Given the description of an element on the screen output the (x, y) to click on. 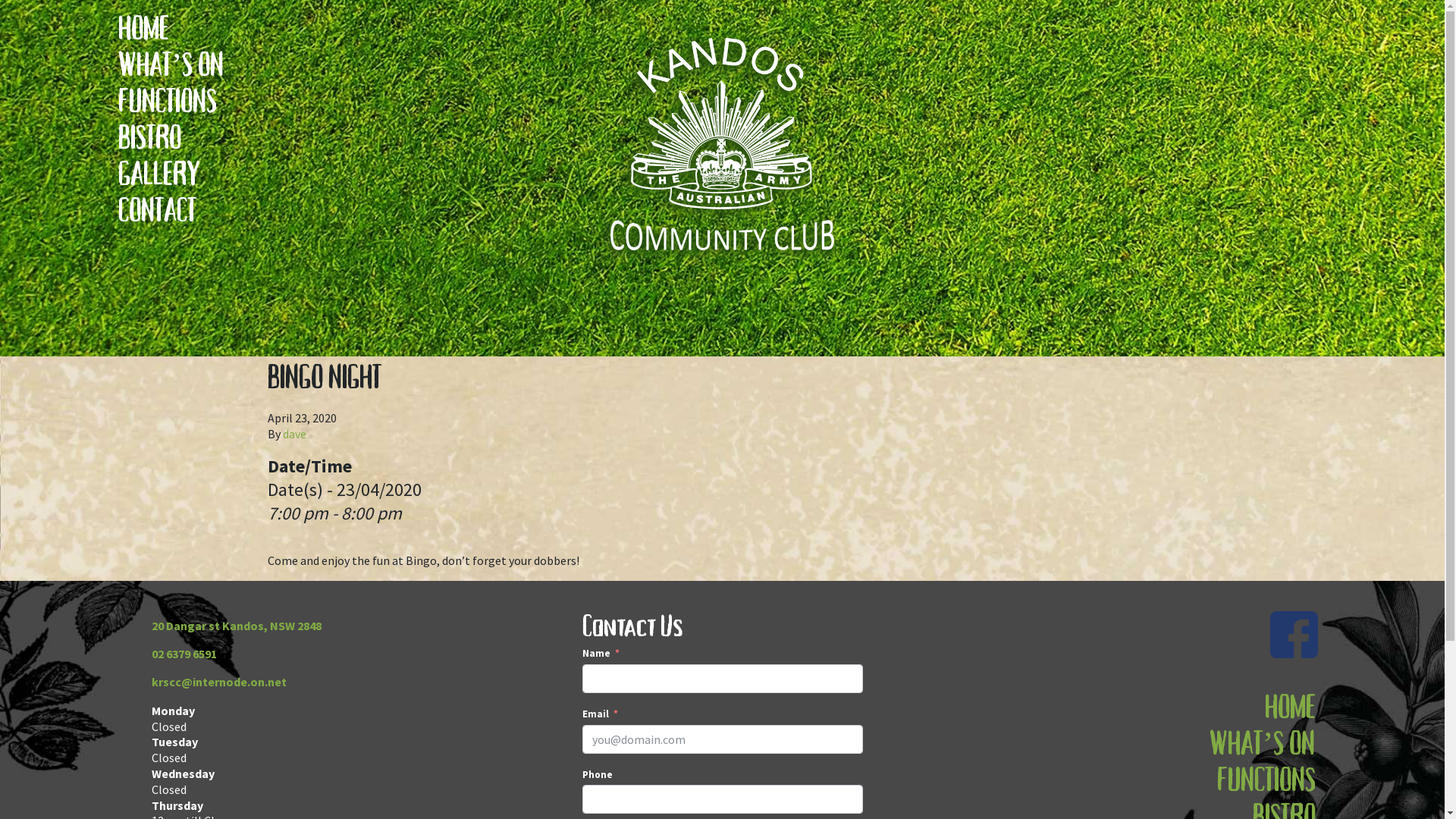
CONTACT Element type: text (171, 211)
FUNCTIONS Element type: text (1261, 780)
02 6379 6591 Element type: text (183, 653)
HOME Element type: text (171, 29)
krscc@internode.on.net Element type: text (218, 681)
GALLERY Element type: text (171, 174)
HOME Element type: text (1261, 707)
BISTRO Element type: text (171, 138)
FUNCTIONS Element type: text (171, 101)
20 Dangar st Kandos, NSW 2848 Element type: text (236, 625)
dave Element type: text (293, 433)
